Given the description of an element on the screen output the (x, y) to click on. 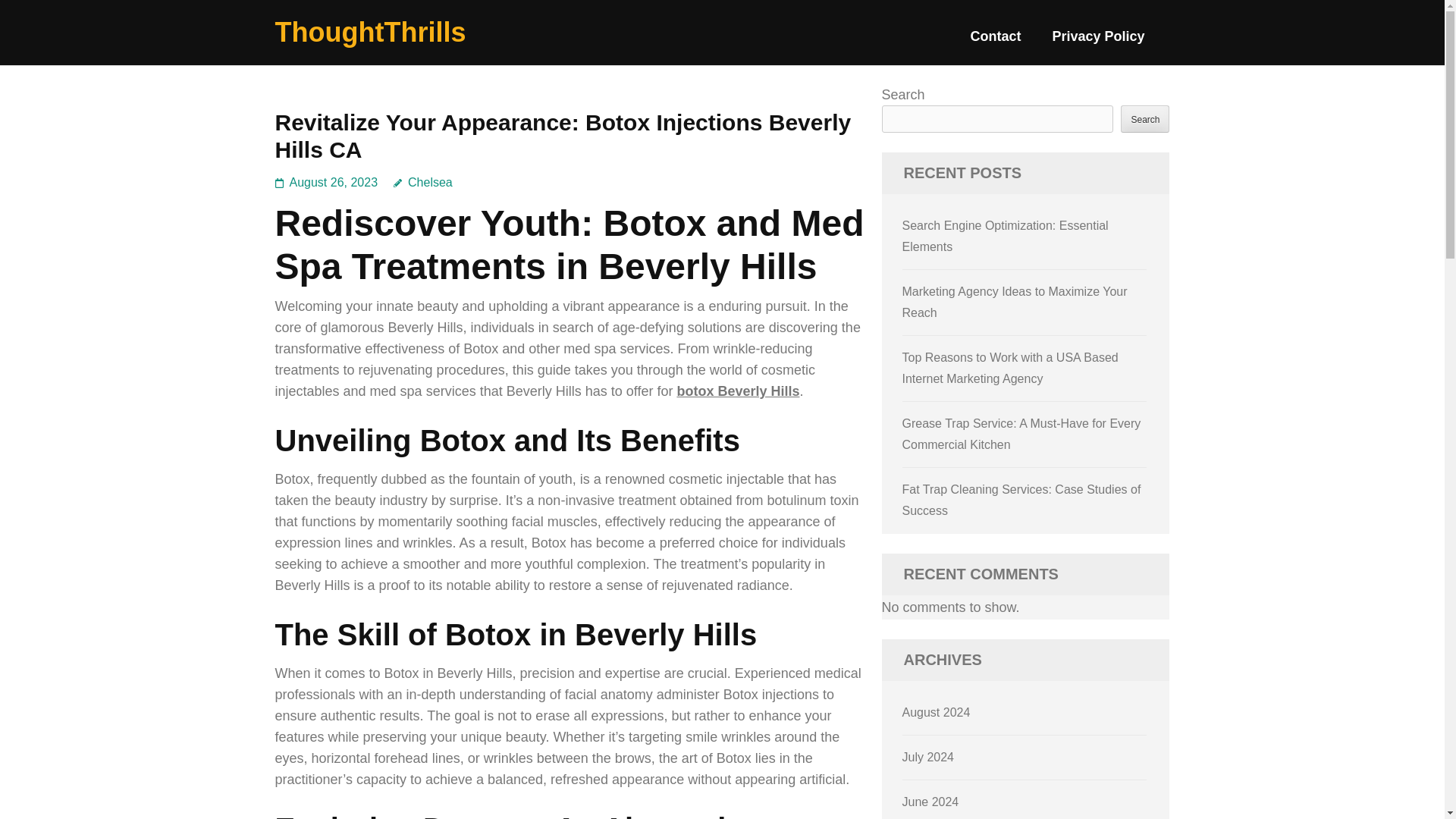
August 26, 2023 (333, 182)
Fat Trap Cleaning Services: Case Studies of Success (1021, 499)
botox Beverly Hills (738, 391)
August 2024 (936, 712)
Search (1145, 118)
July 2024 (928, 757)
June 2024 (930, 801)
ThoughtThrills (370, 31)
Privacy Policy (1097, 42)
